Given the description of an element on the screen output the (x, y) to click on. 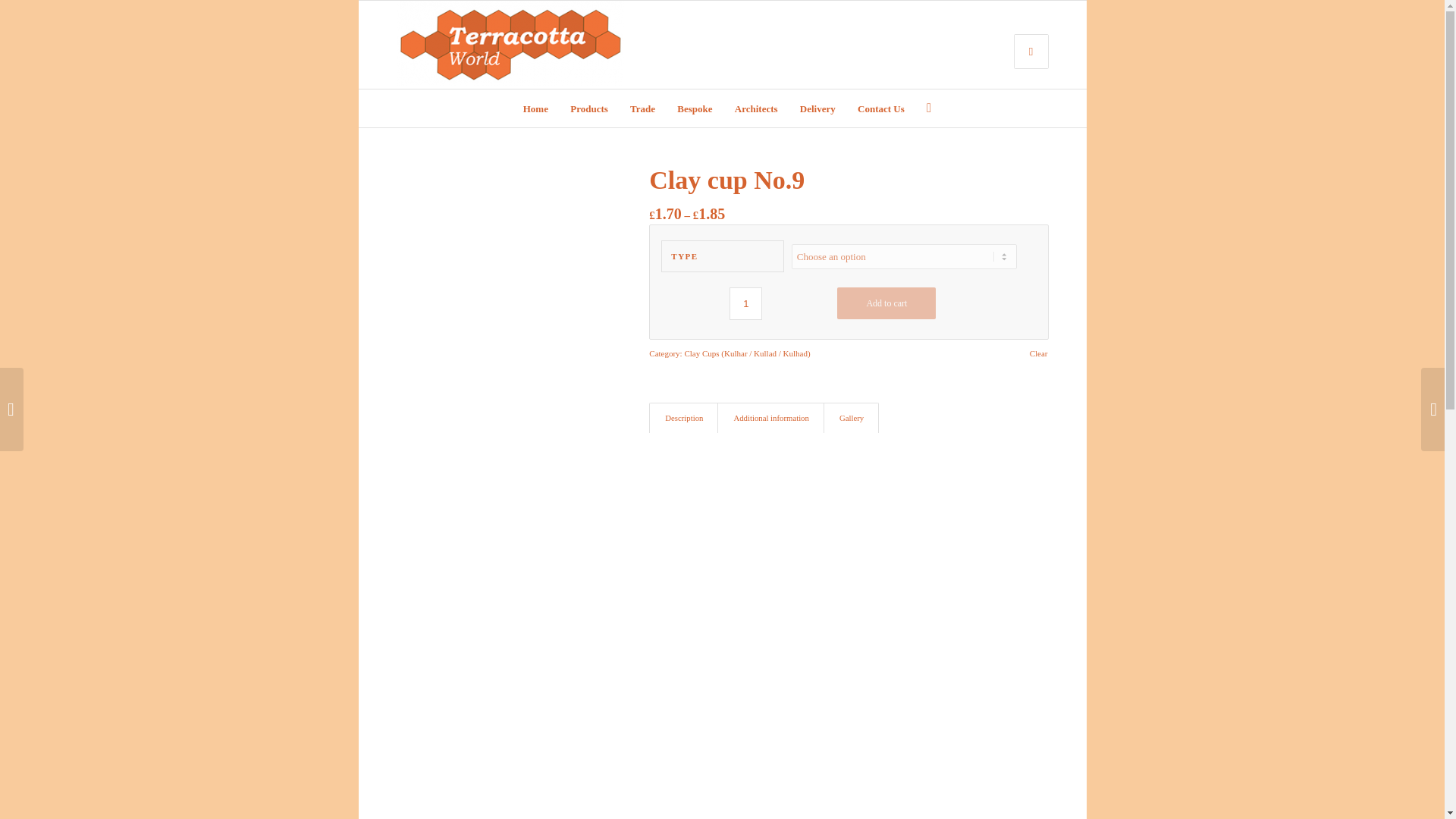
Clear (1038, 353)
Add to cart (886, 303)
Delivery (817, 108)
1 (745, 303)
Architects (756, 108)
Description (683, 418)
Gallery (851, 418)
Home (535, 108)
Gallery (851, 418)
Bespoke (694, 108)
Contact Us (880, 108)
Products (588, 108)
Trade (642, 108)
Additional information (770, 418)
